Given the description of an element on the screen output the (x, y) to click on. 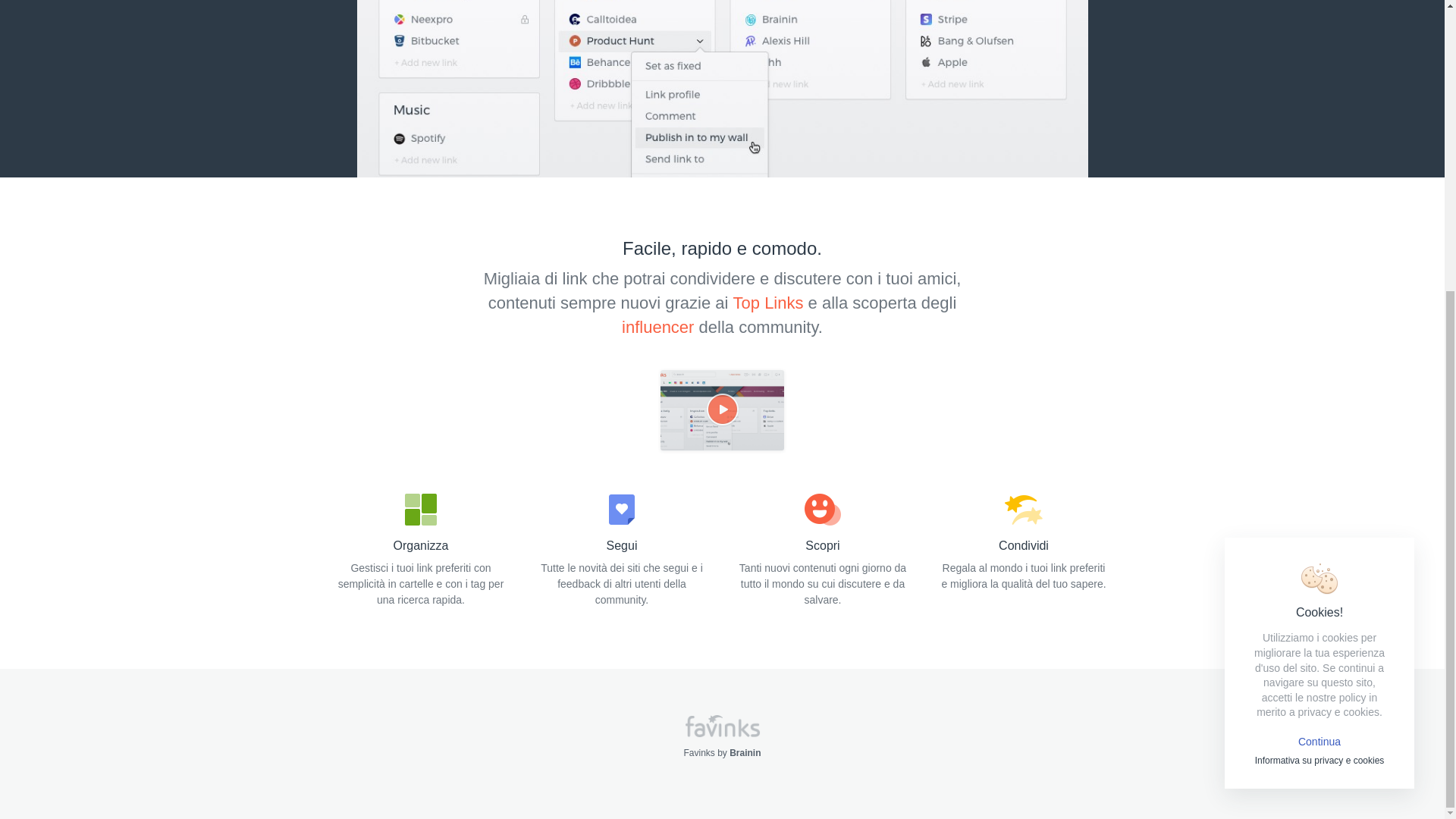
Brainin (744, 752)
Top Links (768, 302)
Continua (1319, 297)
influencer (657, 326)
Brainin (744, 752)
Informativa su privacy e cookies (1319, 316)
